Given the description of an element on the screen output the (x, y) to click on. 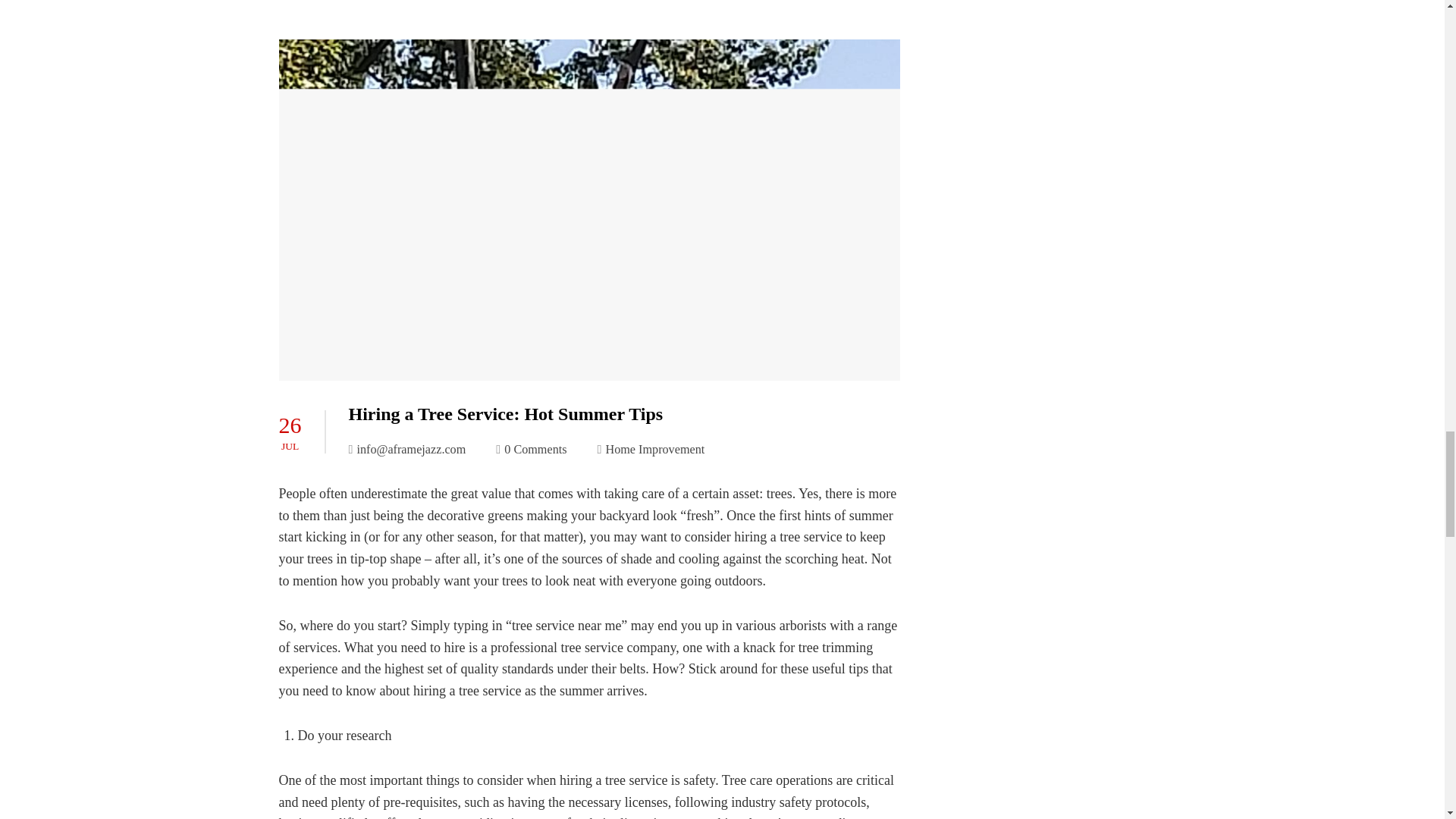
Home Improvement (654, 449)
0 Comments (531, 449)
Hiring a Tree Service: Hot Summer Tips (506, 414)
